Given the description of an element on the screen output the (x, y) to click on. 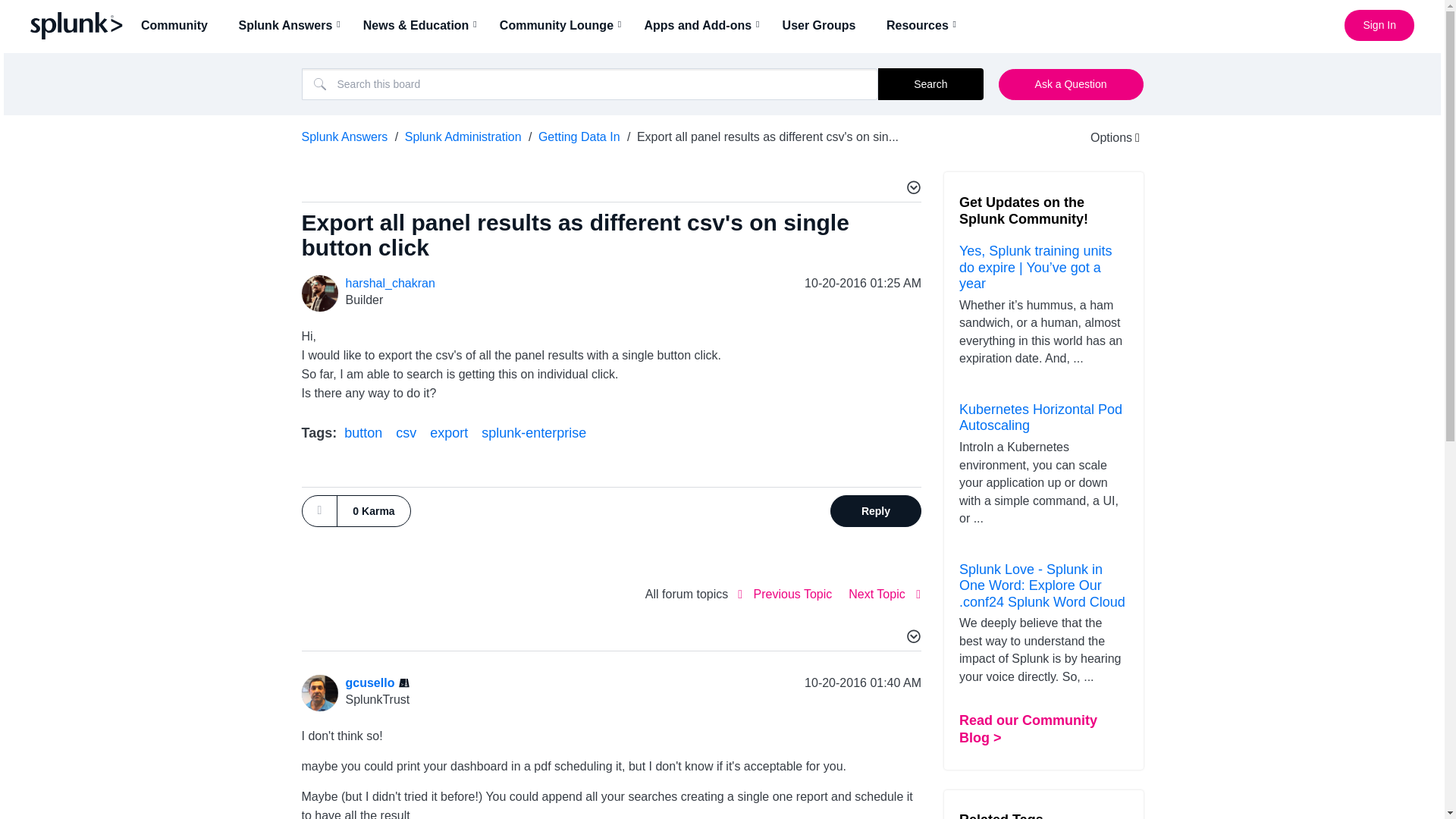
Search (929, 83)
Community (178, 25)
Show option menu (1105, 137)
Search (590, 83)
Search (929, 83)
Splunk Answers (289, 25)
